Given the description of an element on the screen output the (x, y) to click on. 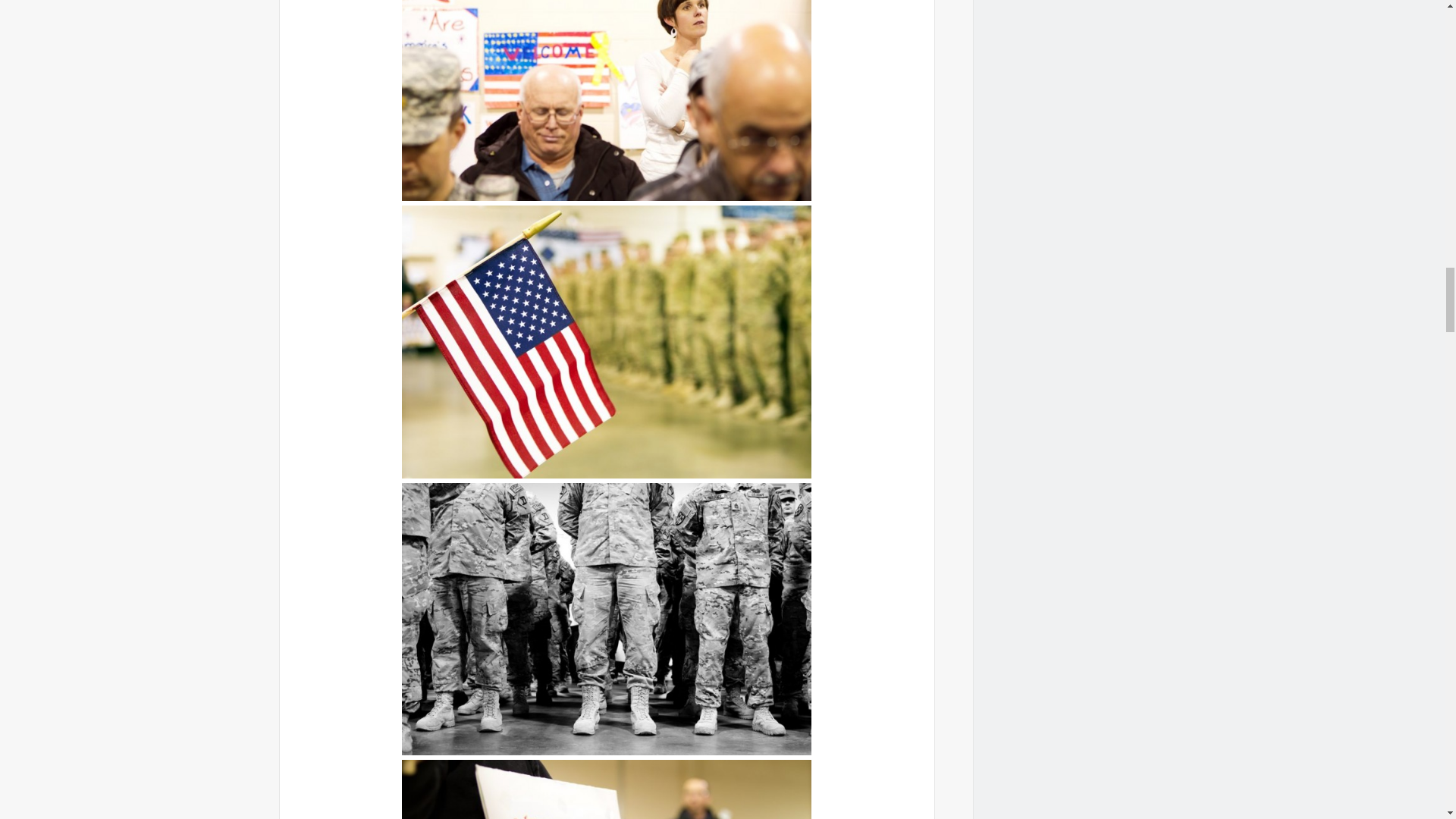
LeeHomecoming-1029 (605, 100)
LeeHomecoming-1047 (605, 341)
LeeHomecoming-1050 (605, 619)
LeeHomecoming-1051 (605, 789)
